Given the description of an element on the screen output the (x, y) to click on. 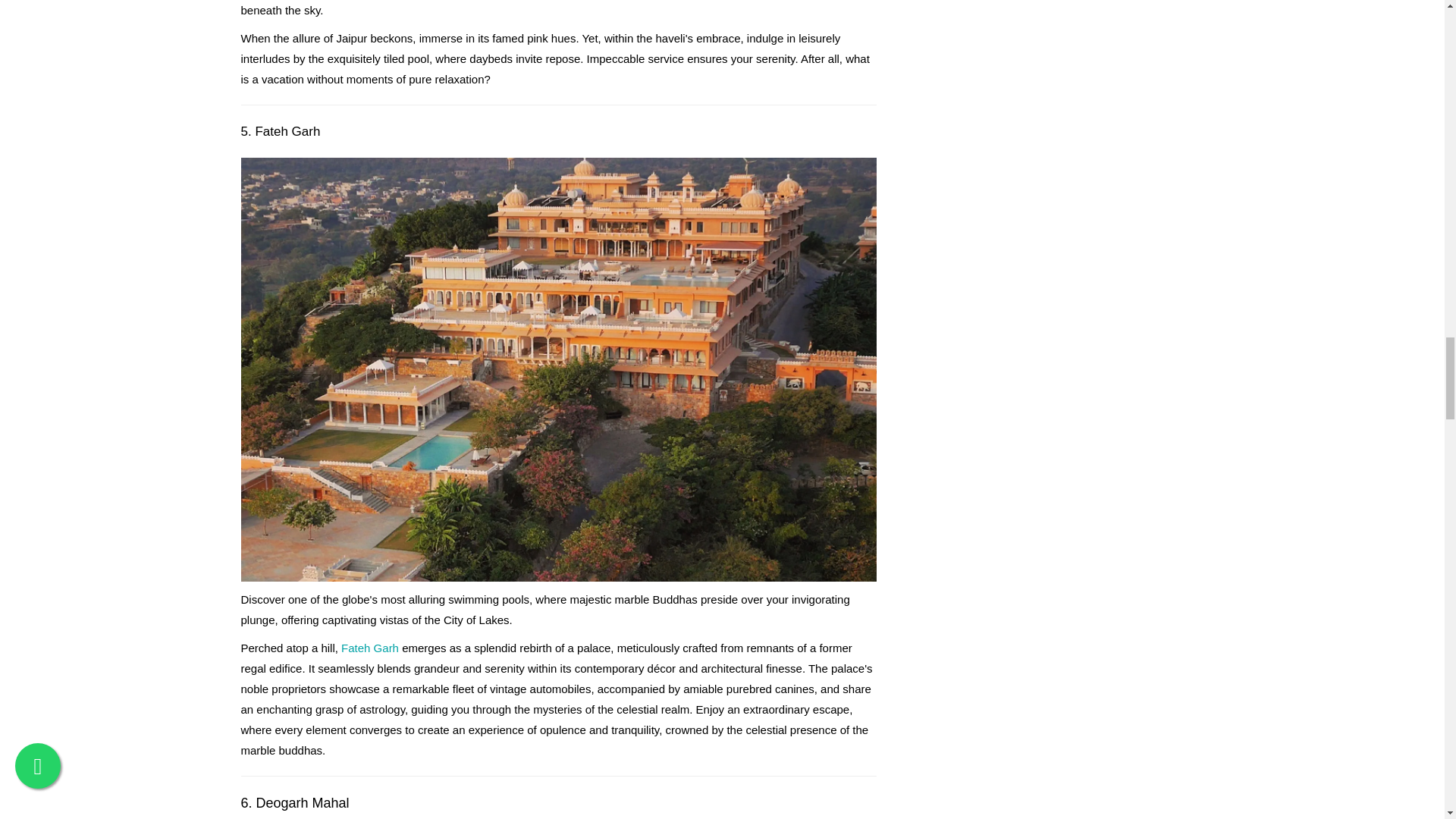
Fateh Garh (369, 647)
